Given the description of an element on the screen output the (x, y) to click on. 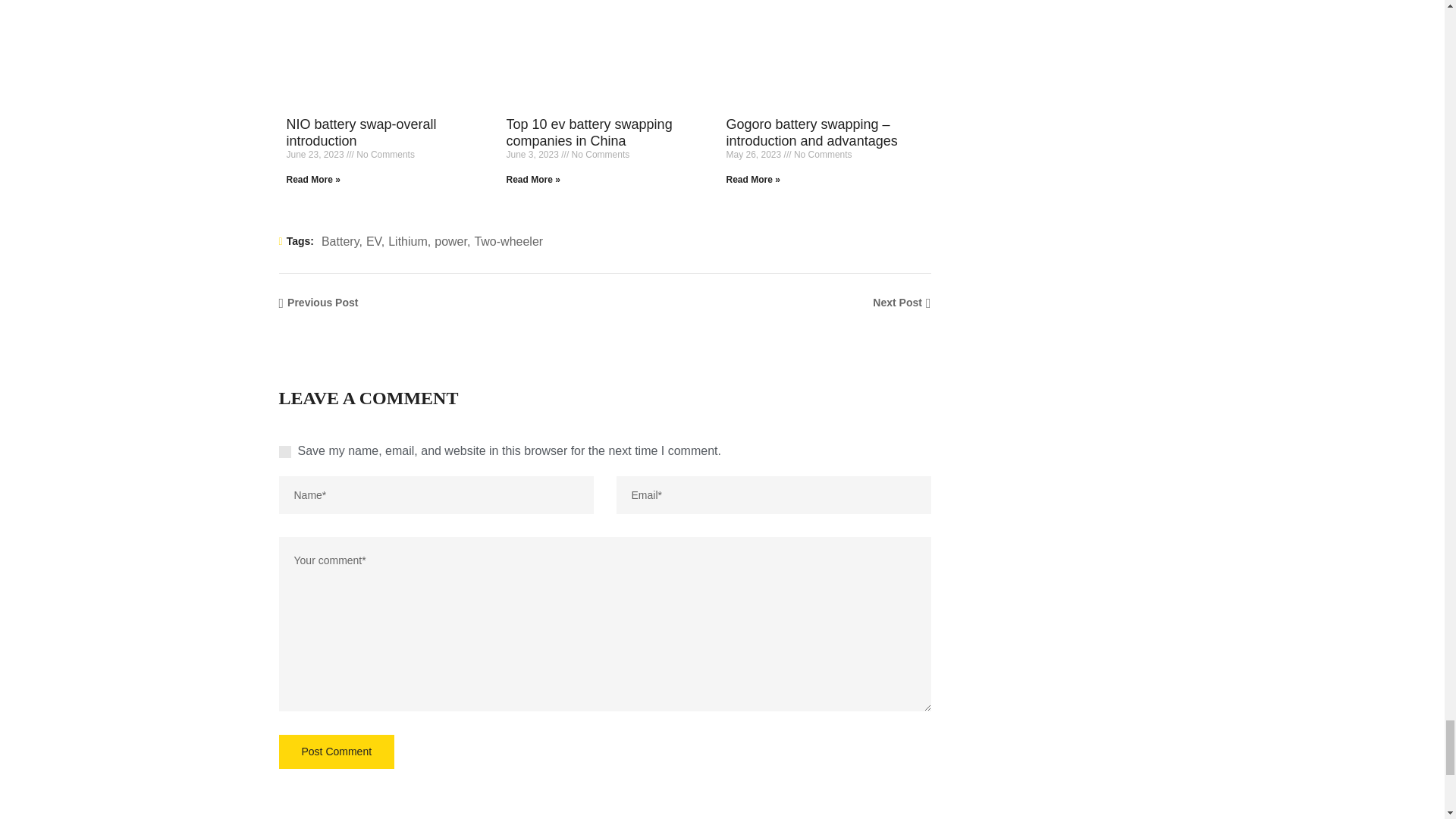
Post comment (336, 751)
yes (285, 451)
NIO battery swap-overall introduction (361, 132)
